Given the description of an element on the screen output the (x, y) to click on. 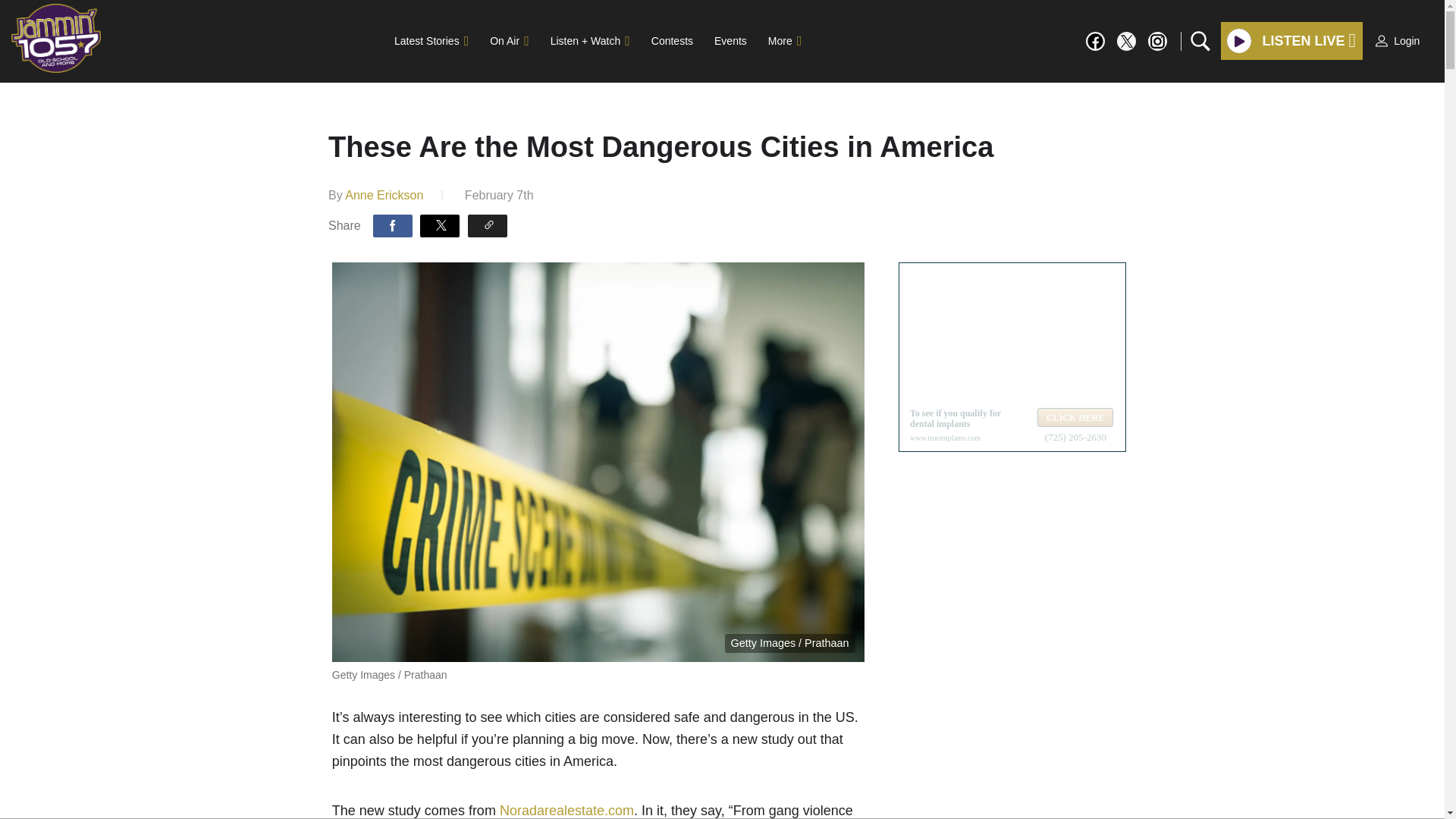
Anne Erickson (384, 195)
Events (730, 40)
Contests (671, 40)
On Air (508, 40)
3rd party ad content (1011, 357)
Latest Stories (431, 40)
More (784, 40)
